Given the description of an element on the screen output the (x, y) to click on. 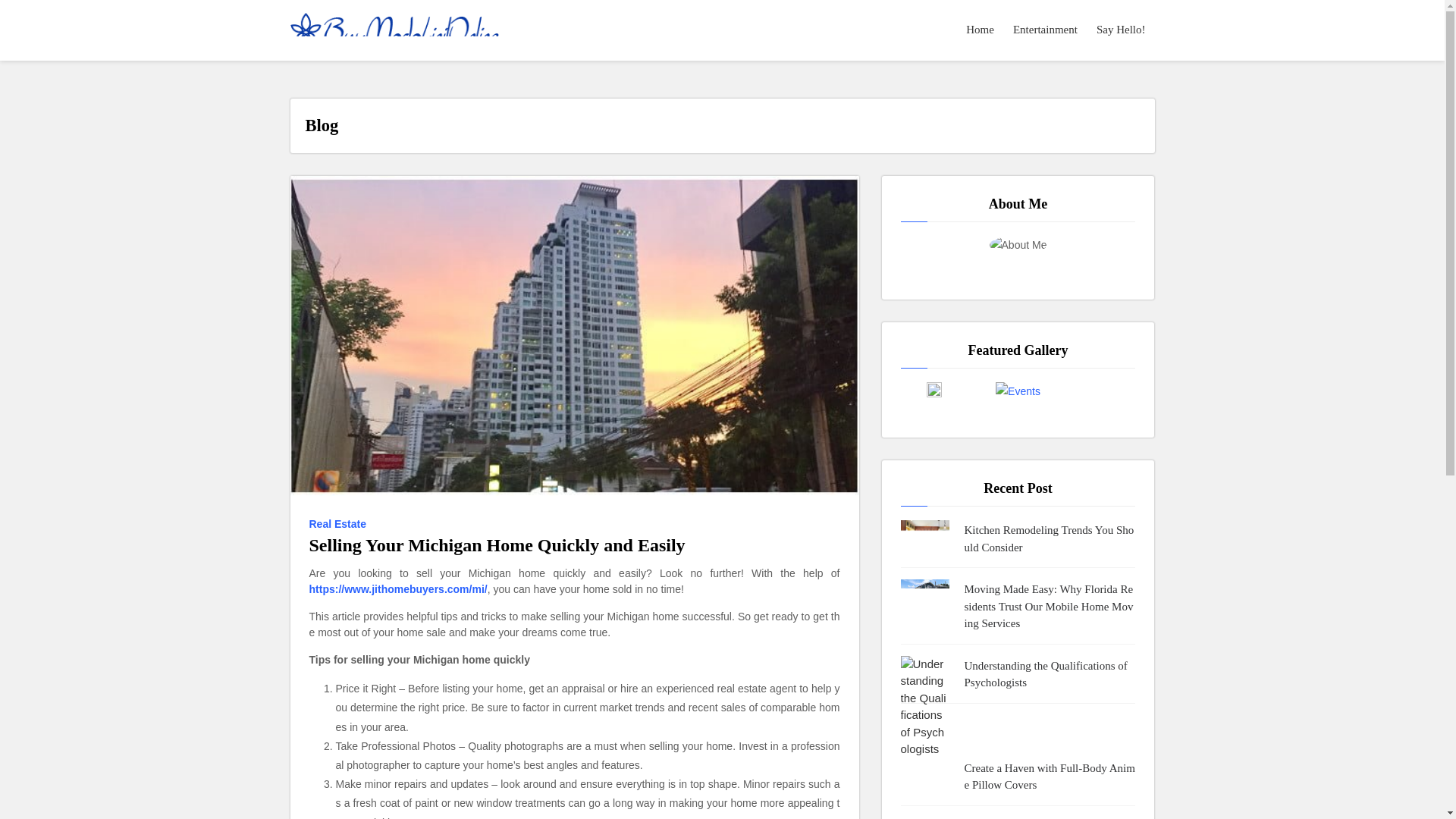
Real Estate (339, 524)
Say Hello! (1121, 29)
Kitchen Remodeling Trends You Should Consider (1049, 538)
Entertainment (1045, 29)
Say Hello! (1121, 29)
Entertainment (1045, 29)
Understanding the Qualifications of Psychologists (1049, 674)
Create a Haven with Full-Body Anime Pillow Covers (1049, 776)
